Given the description of an element on the screen output the (x, y) to click on. 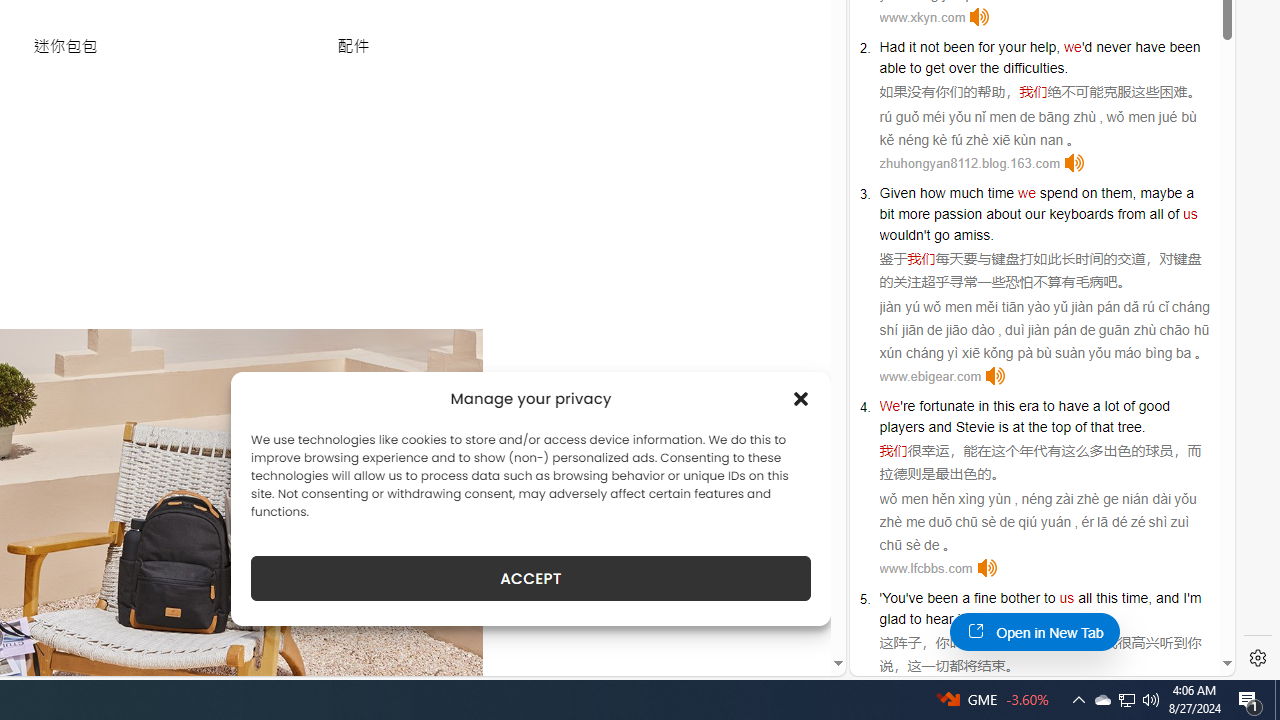
Next (437, 651)
I (1184, 597)
the (989, 67)
going (994, 619)
, (1150, 597)
on (1089, 192)
stop (1044, 619)
. (1060, 619)
Given (897, 192)
